Given the description of an element on the screen output the (x, y) to click on. 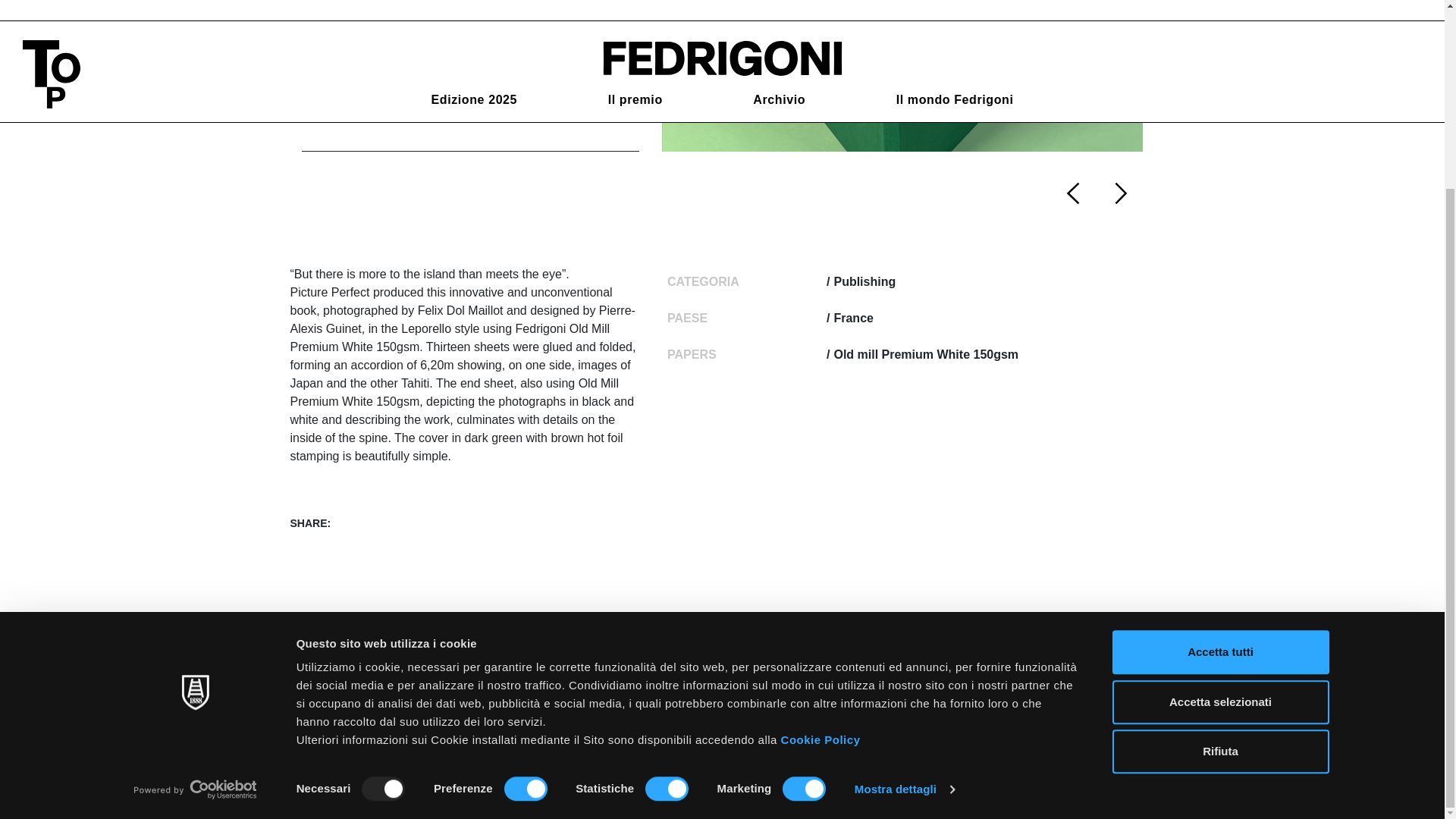
Accetta selezionati (1219, 466)
Rifiuta (1219, 516)
Mostra dettagli (904, 553)
Cookie Policy (820, 504)
